Given the description of an element on the screen output the (x, y) to click on. 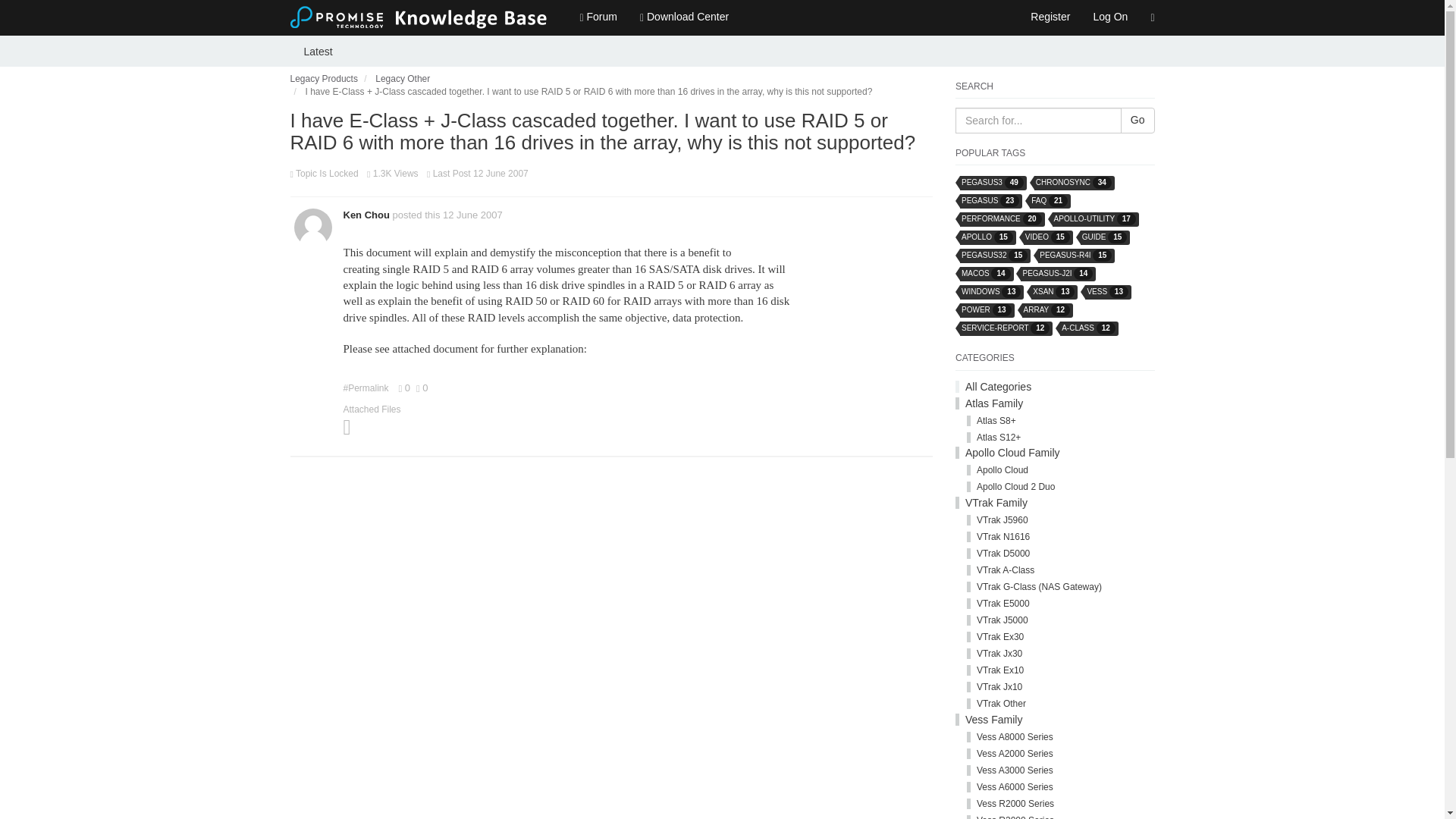
PROMISE Website (1152, 18)
CHRONOSYNC 34 (1073, 182)
Legacy Products (322, 78)
Download Center (683, 17)
Ken Chou (365, 214)
APOLLO 15 (986, 237)
GUIDE 15 (1103, 237)
PEGASUS3 49 (991, 182)
XSAN 13 (1053, 291)
VESS 13 (1107, 291)
PEGASUS 23 (989, 201)
